Given the description of an element on the screen output the (x, y) to click on. 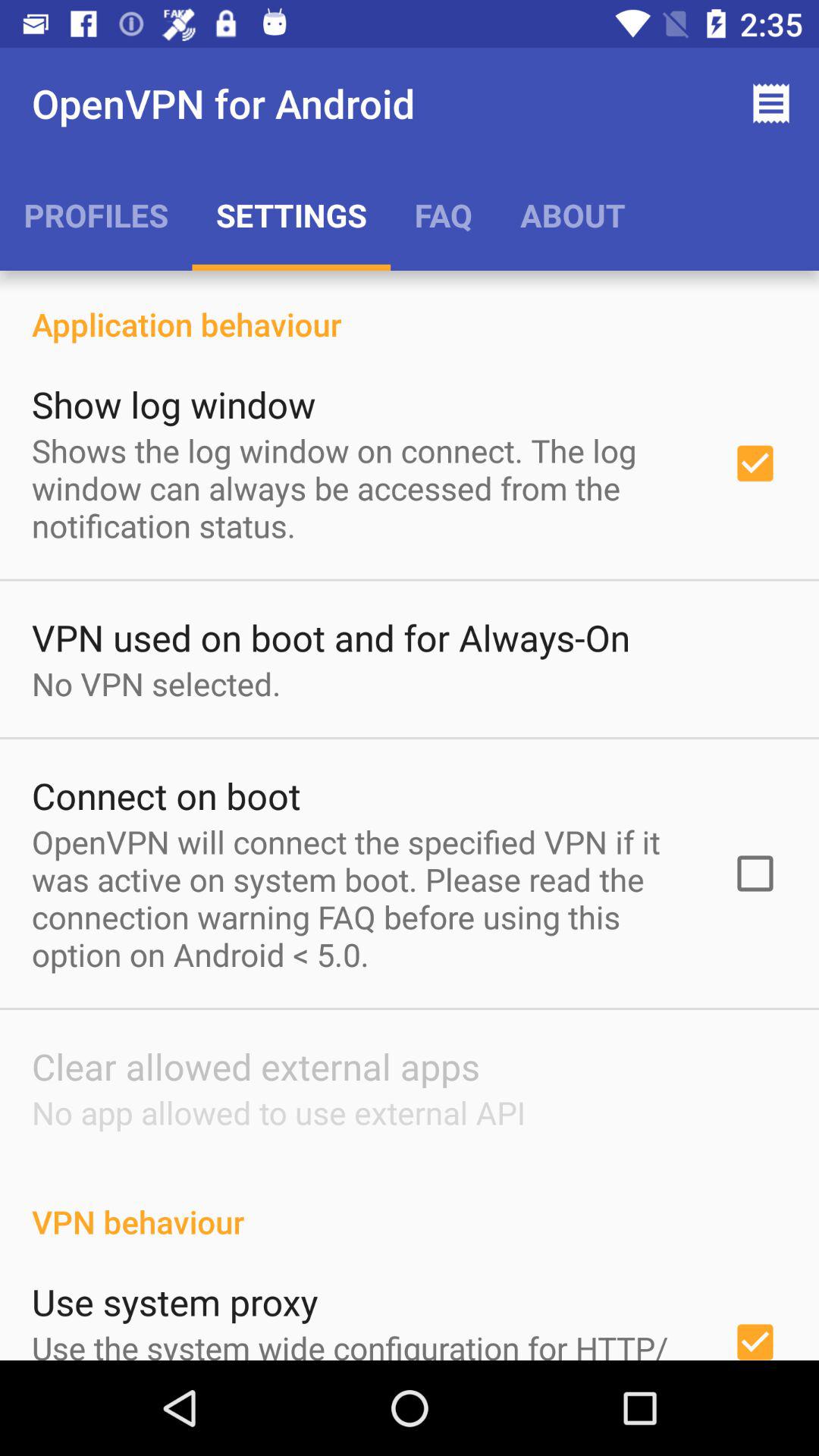
flip until openvpn will connect app (361, 897)
